Given the description of an element on the screen output the (x, y) to click on. 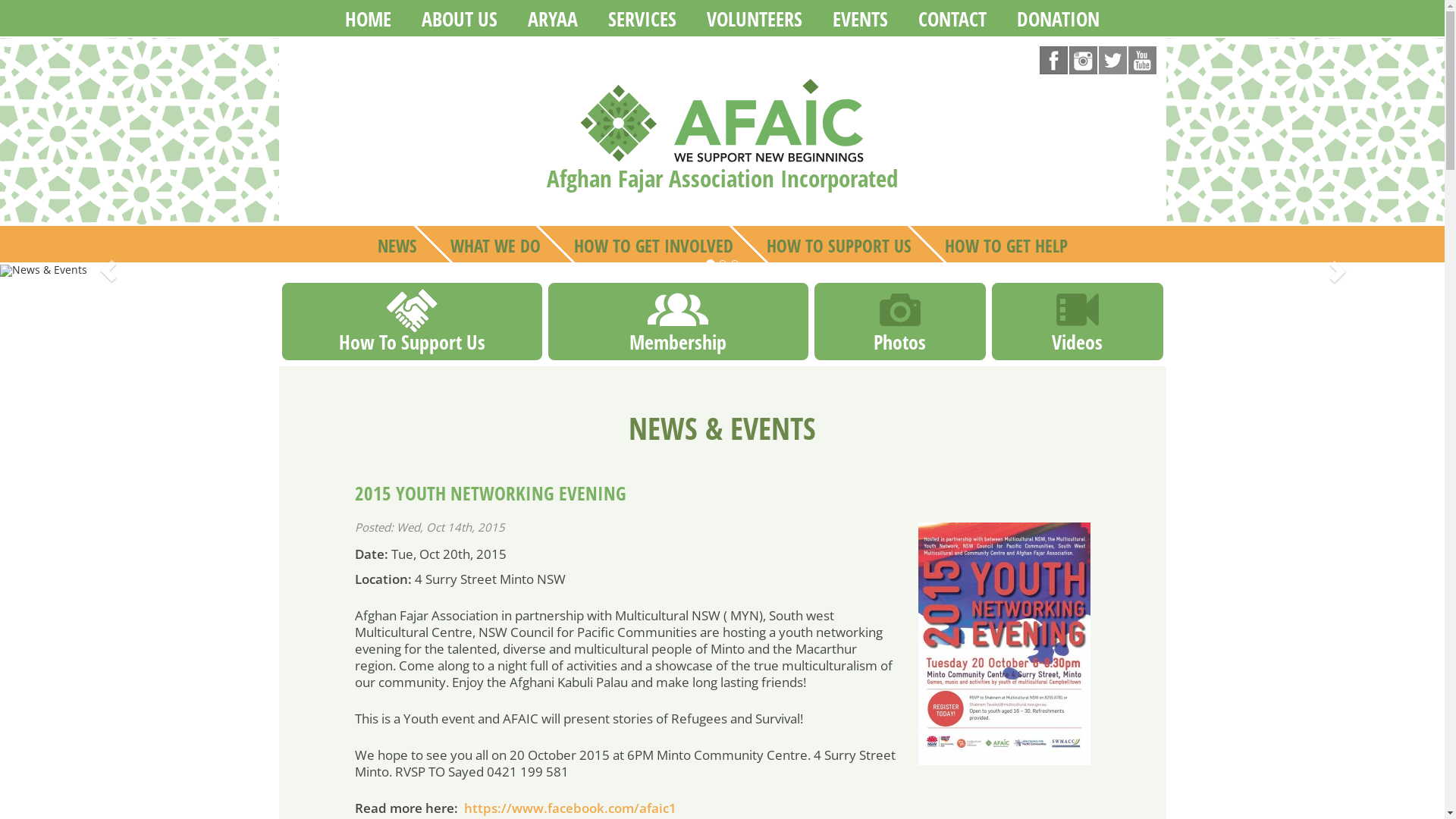
HOME Element type: text (367, 18)
HOW TO SUPPORT US Element type: text (837, 243)
EVENTS Element type: text (860, 18)
Videos Element type: text (1076, 341)
SERVICES Element type: text (642, 18)
Photos Element type: text (899, 341)
HOW TO GET INVOLVED Element type: text (652, 243)
CONTACT Element type: text (952, 18)
Find us on Twitter Element type: hover (1112, 58)
Find us on Facebook Element type: hover (1053, 58)
HOW TO GET HELP Element type: text (1005, 243)
DONATION Element type: text (1057, 18)
How To Support Us Element type: text (412, 342)
NEWS Element type: text (397, 243)
ARYAA Element type: text (552, 18)
Find us on Youtube Element type: hover (1141, 58)
VOLUNTEERS Element type: text (754, 18)
Find us on Instagram Element type: hover (1082, 58)
ABOUT US Element type: text (459, 18)
https://www.facebook.com/afaic1 Element type: text (570, 807)
Membership Element type: text (677, 341)
WHAT WE DO Element type: text (495, 243)
